Given the description of an element on the screen output the (x, y) to click on. 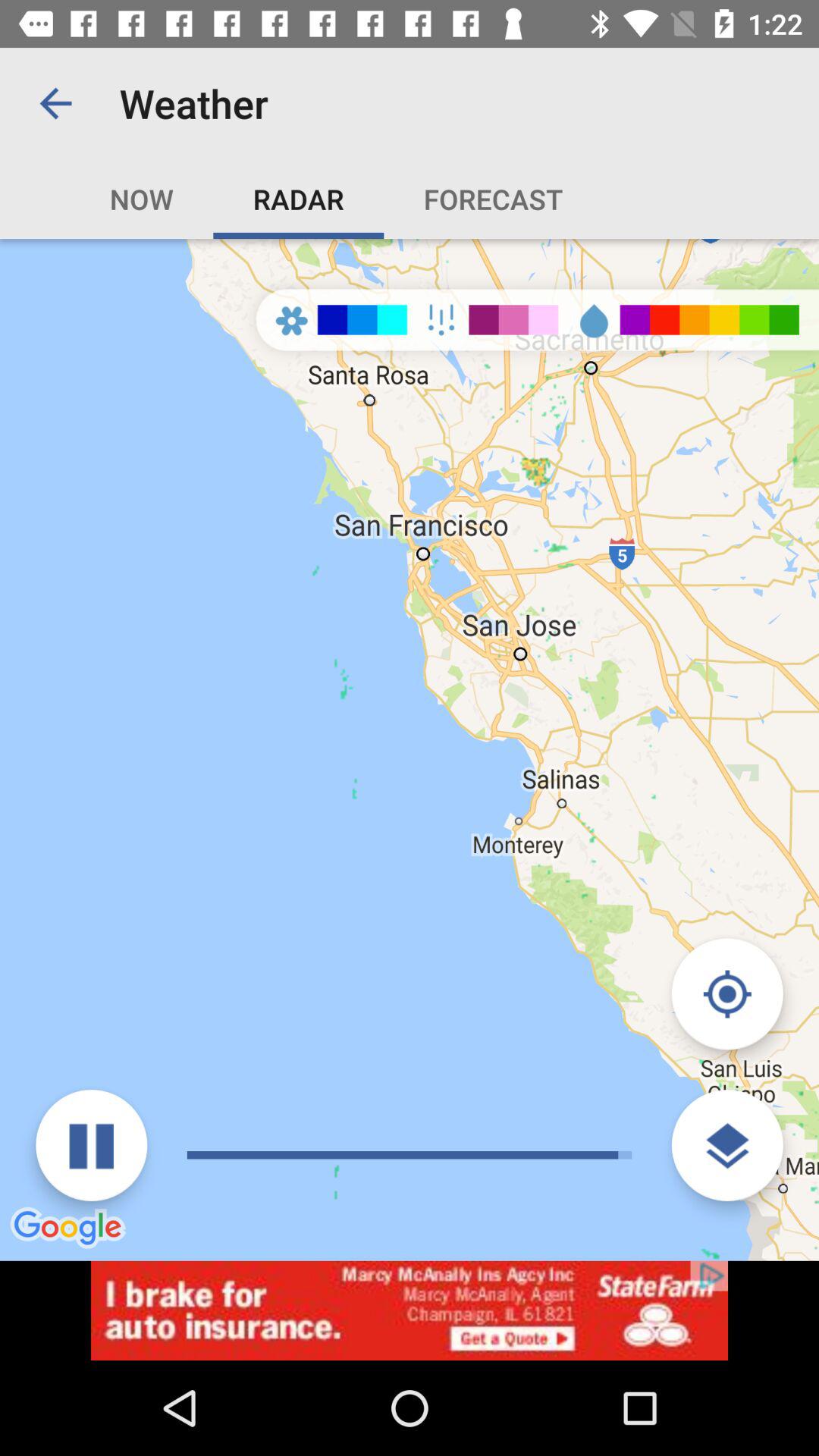
see more options (727, 1145)
